Given the description of an element on the screen output the (x, y) to click on. 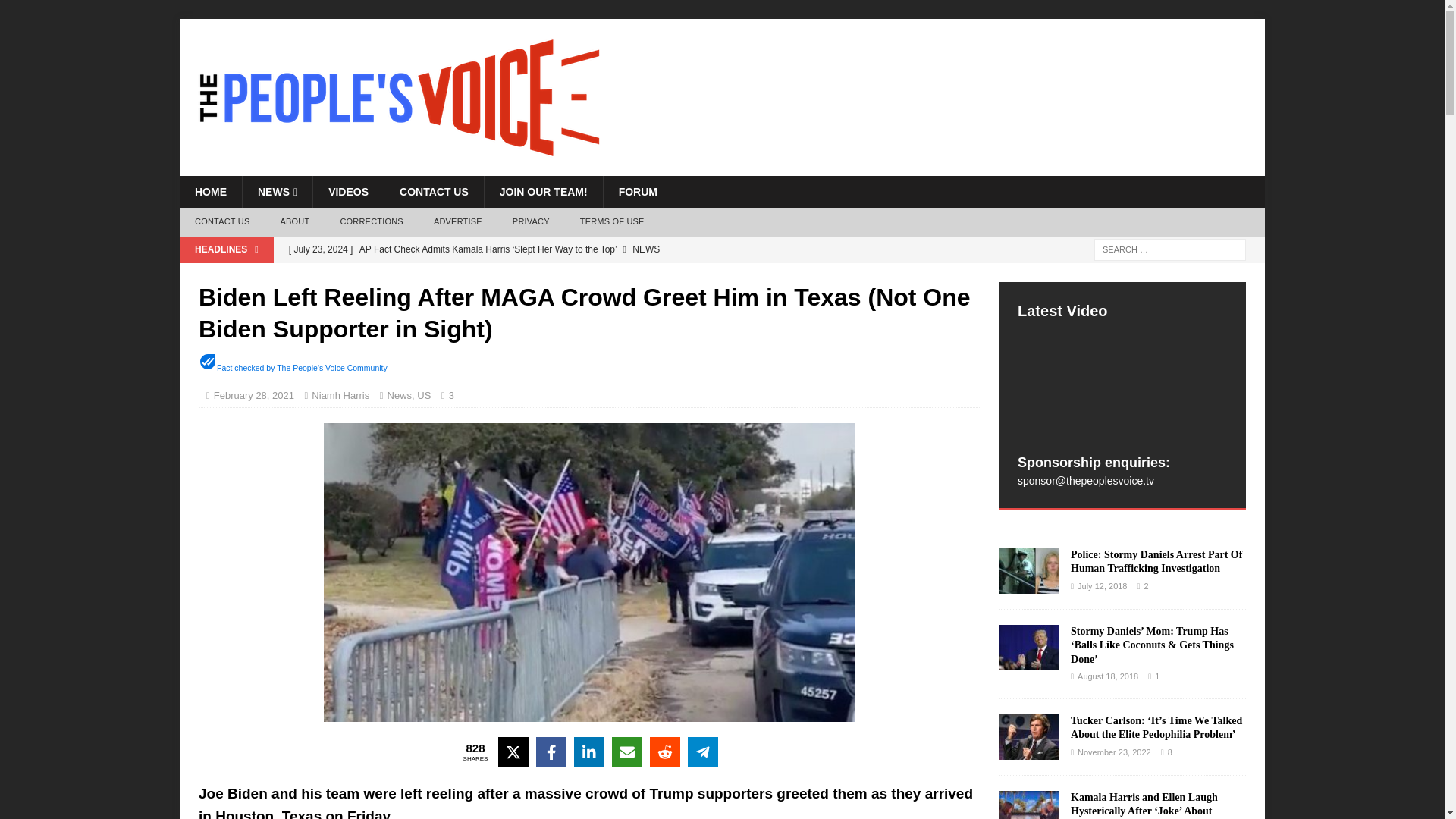
VIDEOS (348, 192)
CONTACT US (433, 192)
ABOUT (294, 222)
TERMS OF USE (611, 222)
CORRECTIONS (370, 222)
FORUM (637, 192)
ADVERTISE (458, 222)
JOIN OUR TEAM! (542, 192)
PRIVACY (530, 222)
NEWS (277, 192)
CONTACT US (221, 222)
HOME (210, 192)
